Given the description of an element on the screen output the (x, y) to click on. 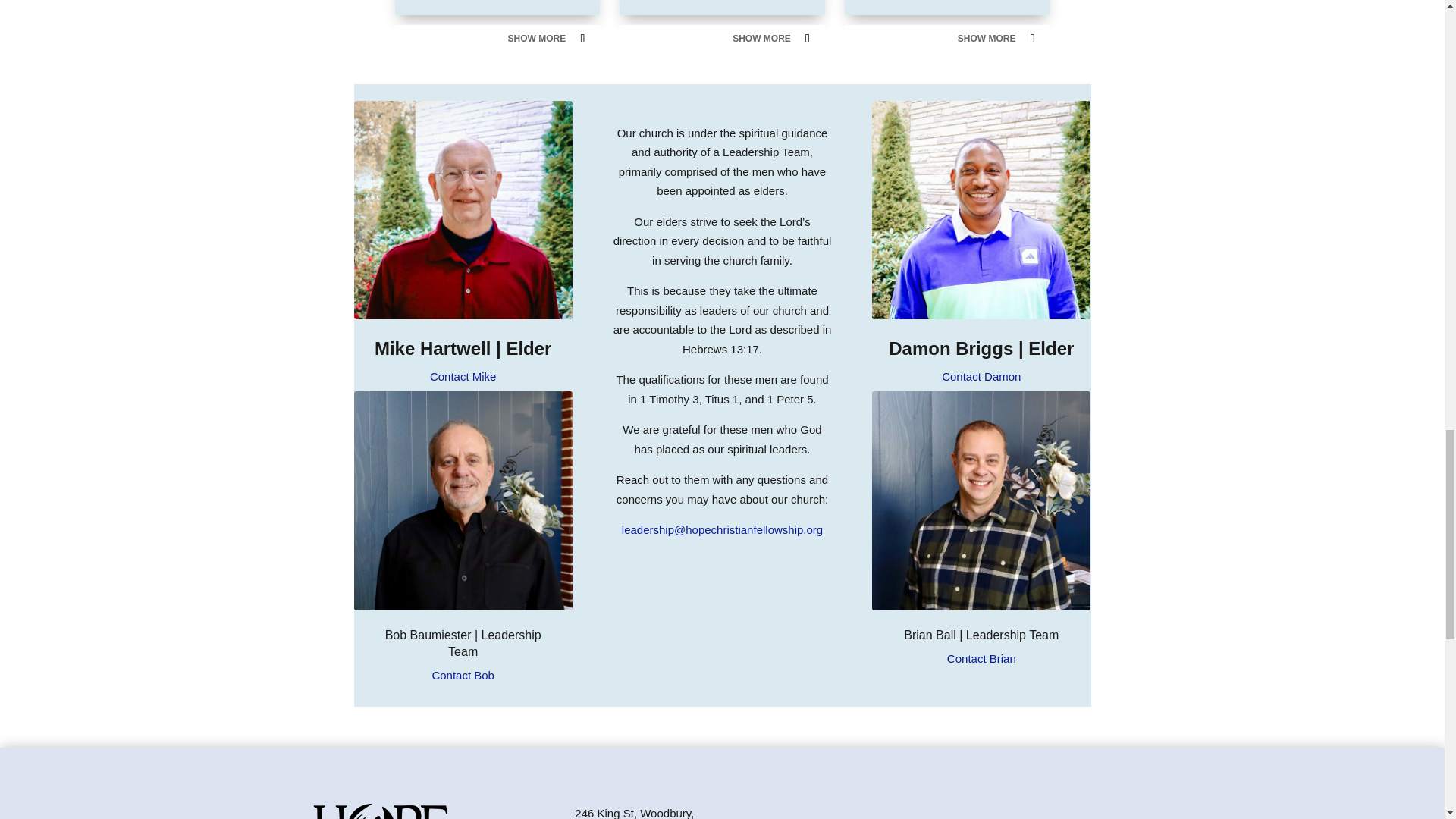
damon-briggs (981, 209)
hope-christian-fellowship-woodburty (380, 811)
Brian-Ball (981, 500)
Bob-Baumiester (462, 500)
mike-hartwell (462, 209)
